Given the description of an element on the screen output the (x, y) to click on. 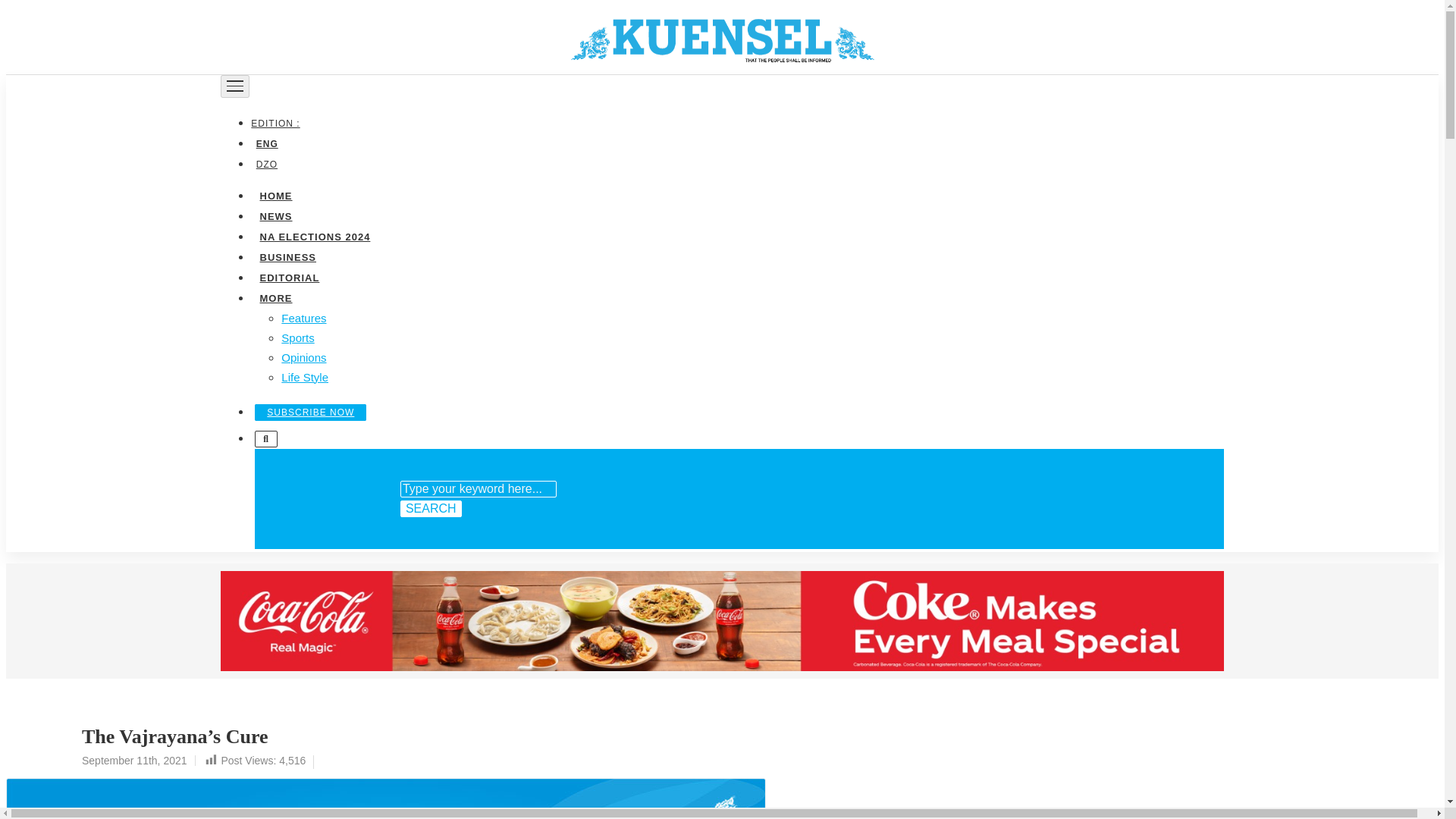
Sports (297, 336)
SEARCH (430, 508)
EDITORIAL (288, 276)
BUSINESS (287, 256)
ENG (266, 143)
NA ELECTIONS 2024 (314, 235)
Life Style (305, 376)
HOME (274, 194)
EDITION : (277, 122)
Opinions (303, 356)
SUBSCRIBE NOW (310, 411)
NEWS (274, 215)
Features (303, 317)
MORE (274, 297)
DZO (266, 163)
